Given the description of an element on the screen output the (x, y) to click on. 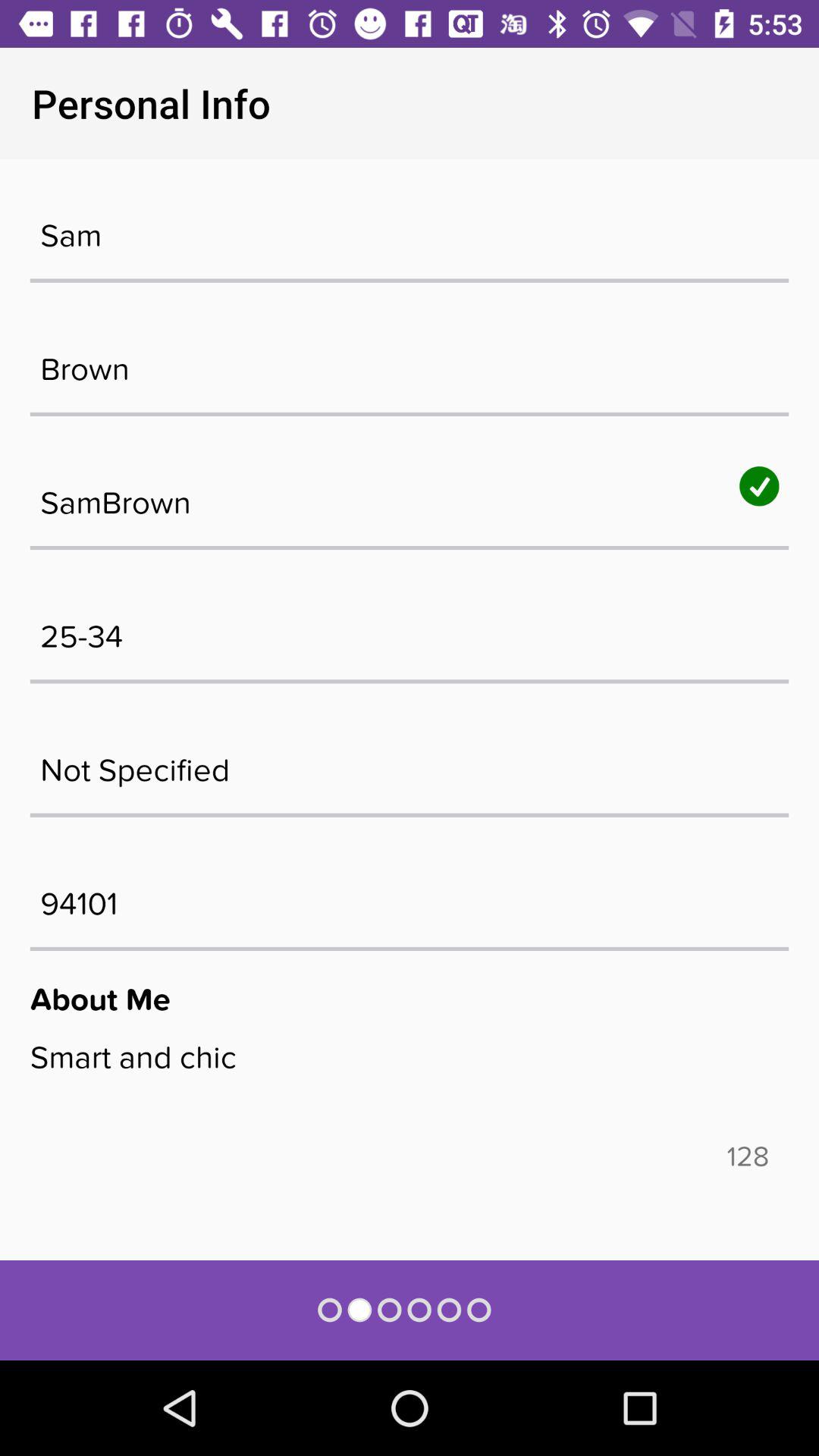
flip until the 25-34 icon (409, 628)
